Given the description of an element on the screen output the (x, y) to click on. 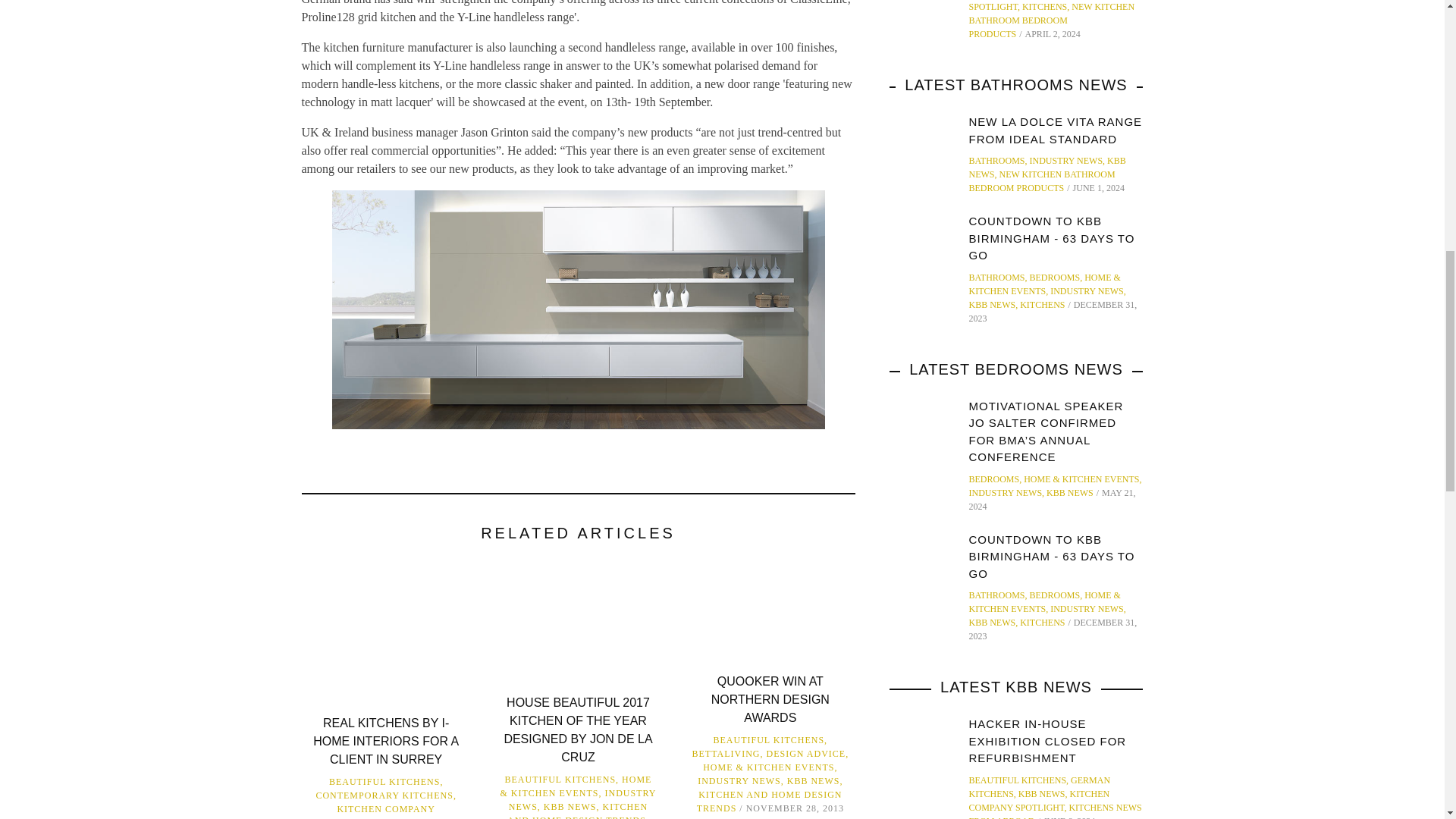
BEAUTIFUL KITCHENS (560, 778)
CONTEMPORARY KITCHENS (383, 795)
INDUSTRY NEWS (582, 799)
BEAUTIFUL KITCHENS (385, 781)
KITCHEN AND HOME DESIGN TRENDS (576, 810)
KBB NEWS (569, 806)
REAL KITCHENS (370, 818)
REAL KITCHENS BY I-HOME INTERIORS FOR A CLIENT IN SURREY (385, 740)
KITCHEN COMPANY SPOTLIGHT (385, 811)
